Given the description of an element on the screen output the (x, y) to click on. 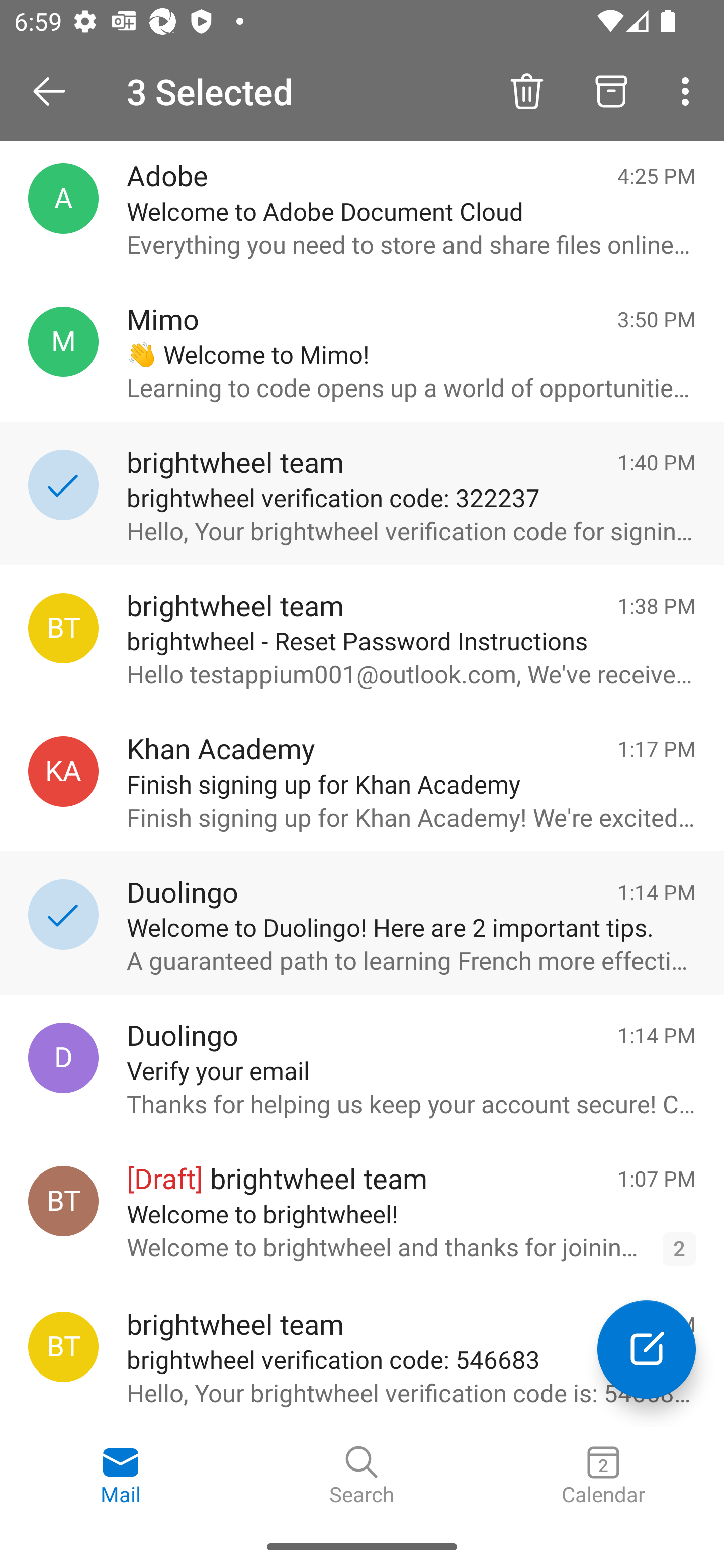
Delete (526, 90)
Archive (611, 90)
More options (688, 90)
Open Navigation Drawer (55, 91)
Adobe, message@adobe.com (63, 198)
Mimo, support@getmimo.com (63, 341)
brightwheel team, recovery@mybrightwheel.com (63, 627)
Khan Academy, no-reply@khanacademy.org (63, 770)
Duolingo, hello@duolingo.com (63, 1057)
brightwheel team, welcome@mybrightwheel.com (63, 1200)
Compose (646, 1348)
brightwheel team, recovery@mybrightwheel.com (63, 1346)
Search (361, 1475)
Calendar (603, 1475)
